Given the description of an element on the screen output the (x, y) to click on. 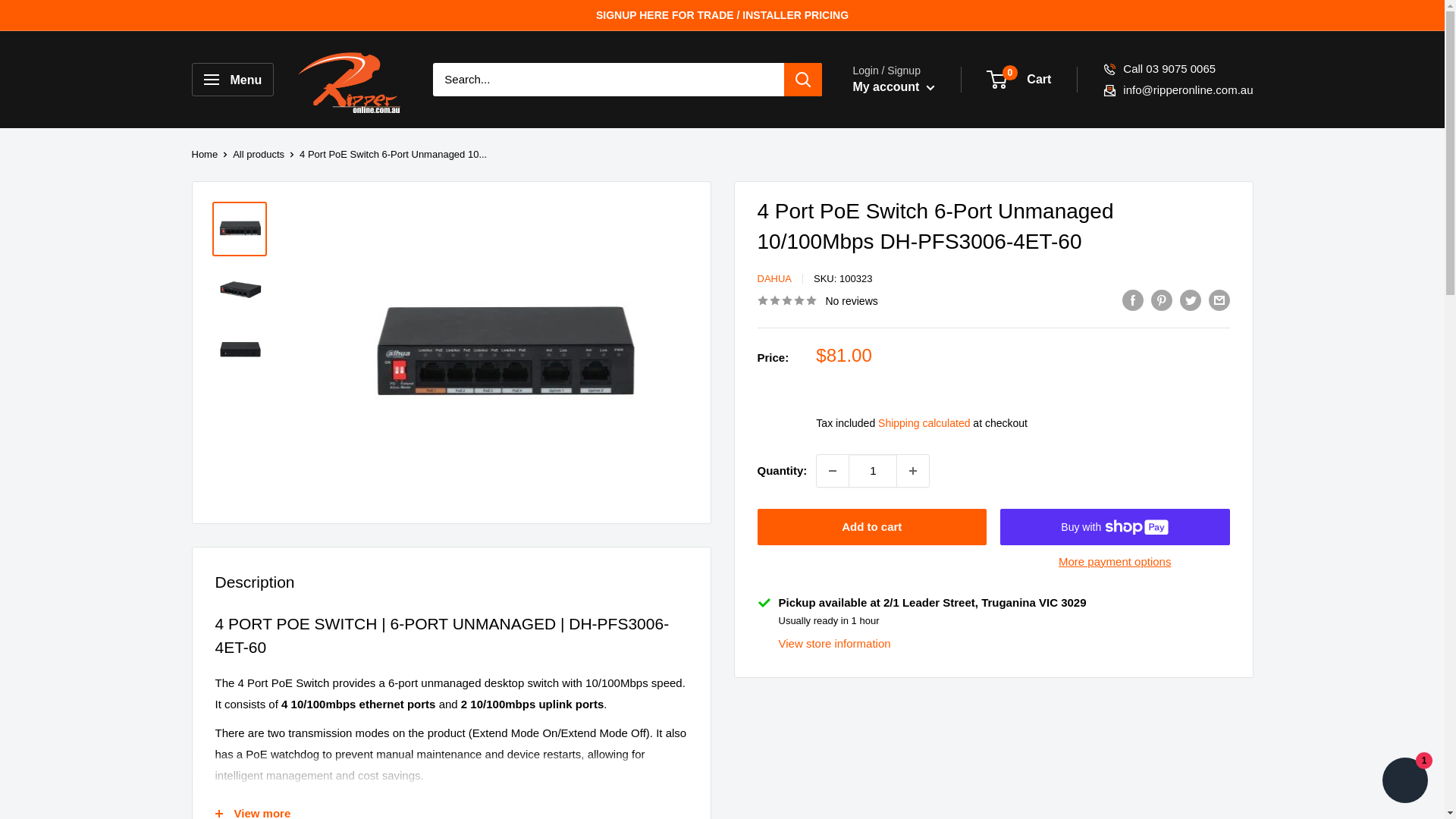
Shopify online store chat (1404, 781)
Increase quantity by 1 (912, 470)
Decrease quantity by 1 (832, 470)
1 (872, 470)
